Given the description of an element on the screen output the (x, y) to click on. 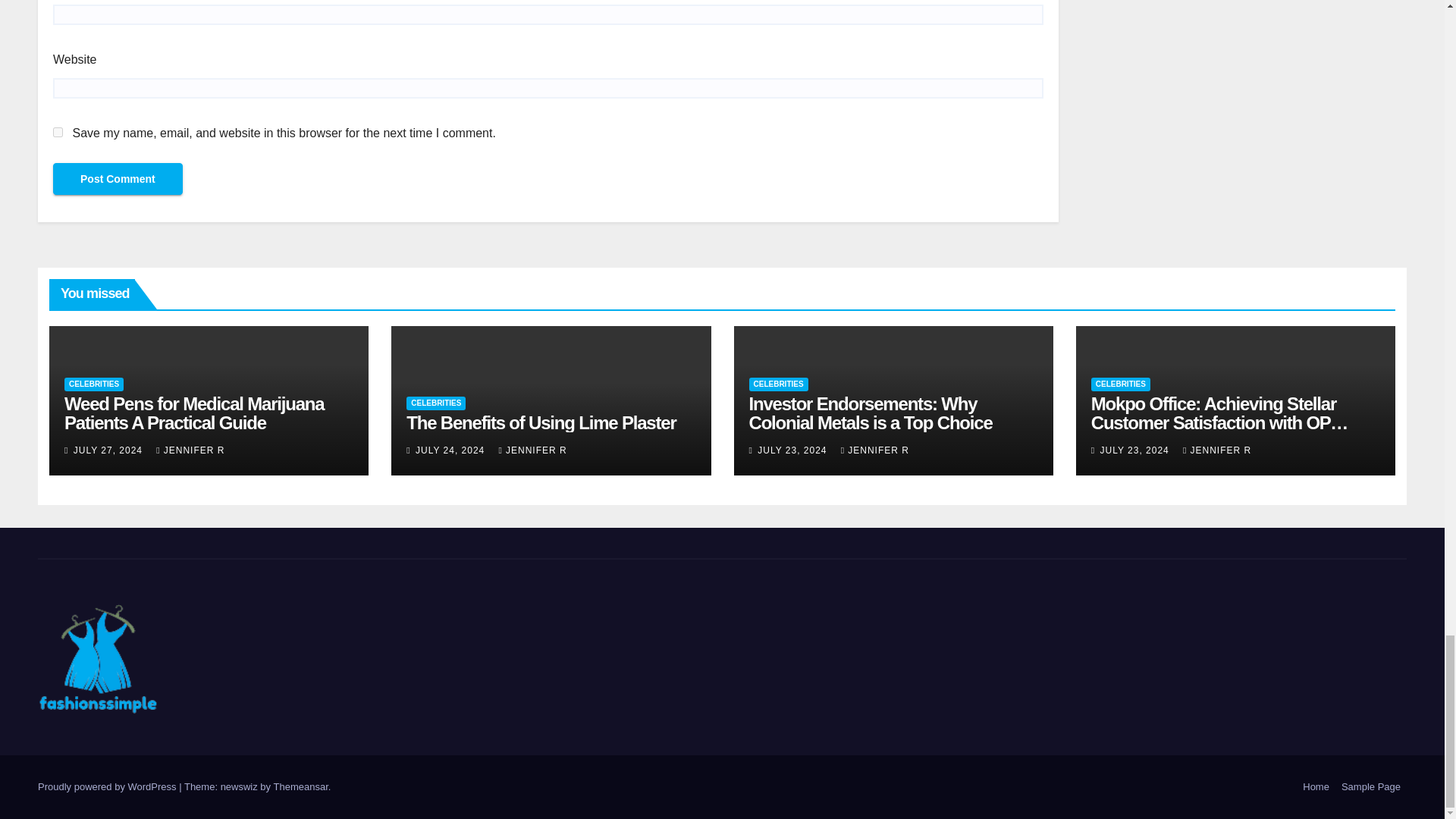
yes (57, 132)
Post Comment (117, 178)
